Given the description of an element on the screen output the (x, y) to click on. 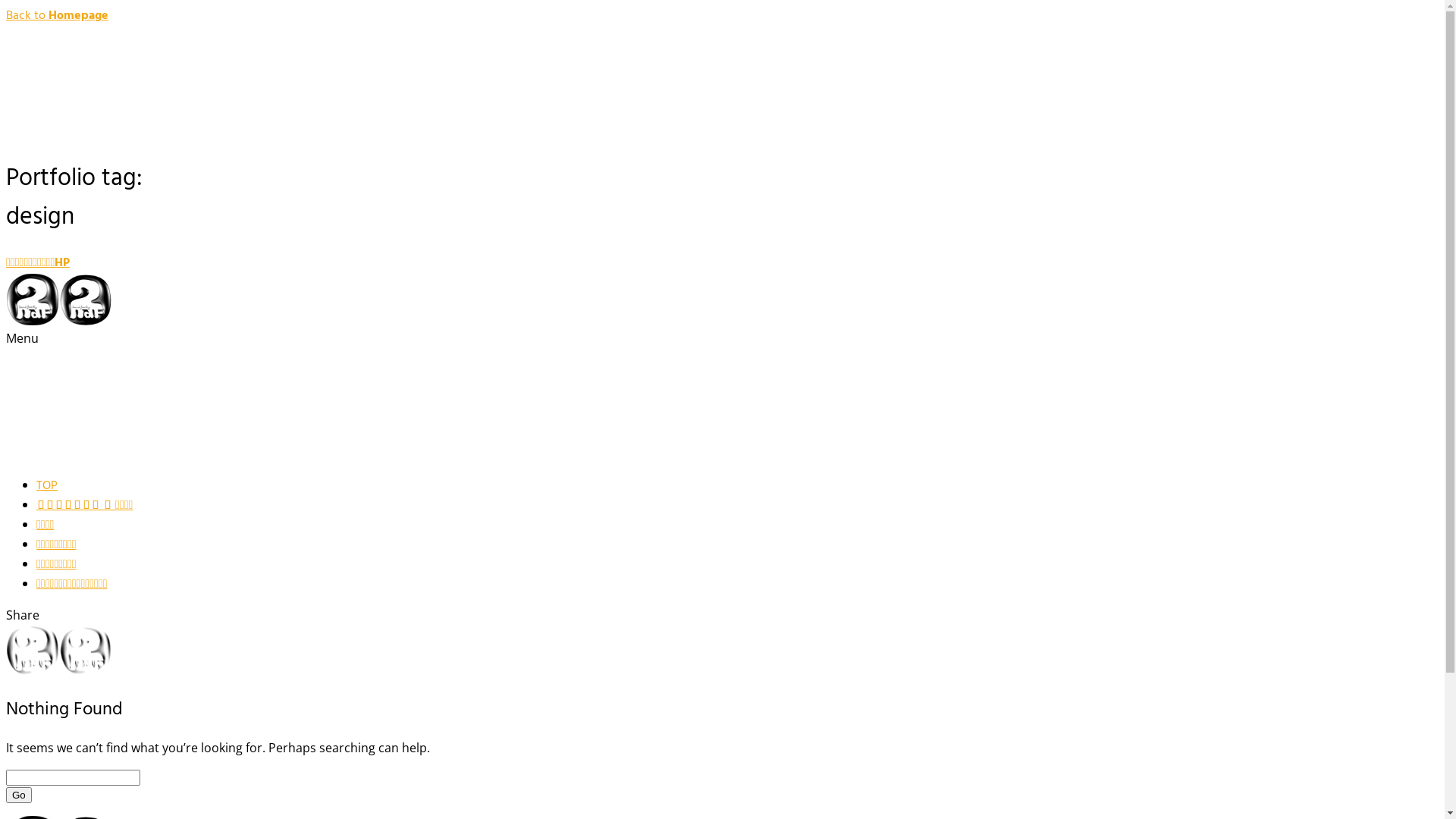
TOP Element type: text (46, 485)
Back to Homepage Element type: text (57, 15)
Go Element type: text (18, 795)
